Given the description of an element on the screen output the (x, y) to click on. 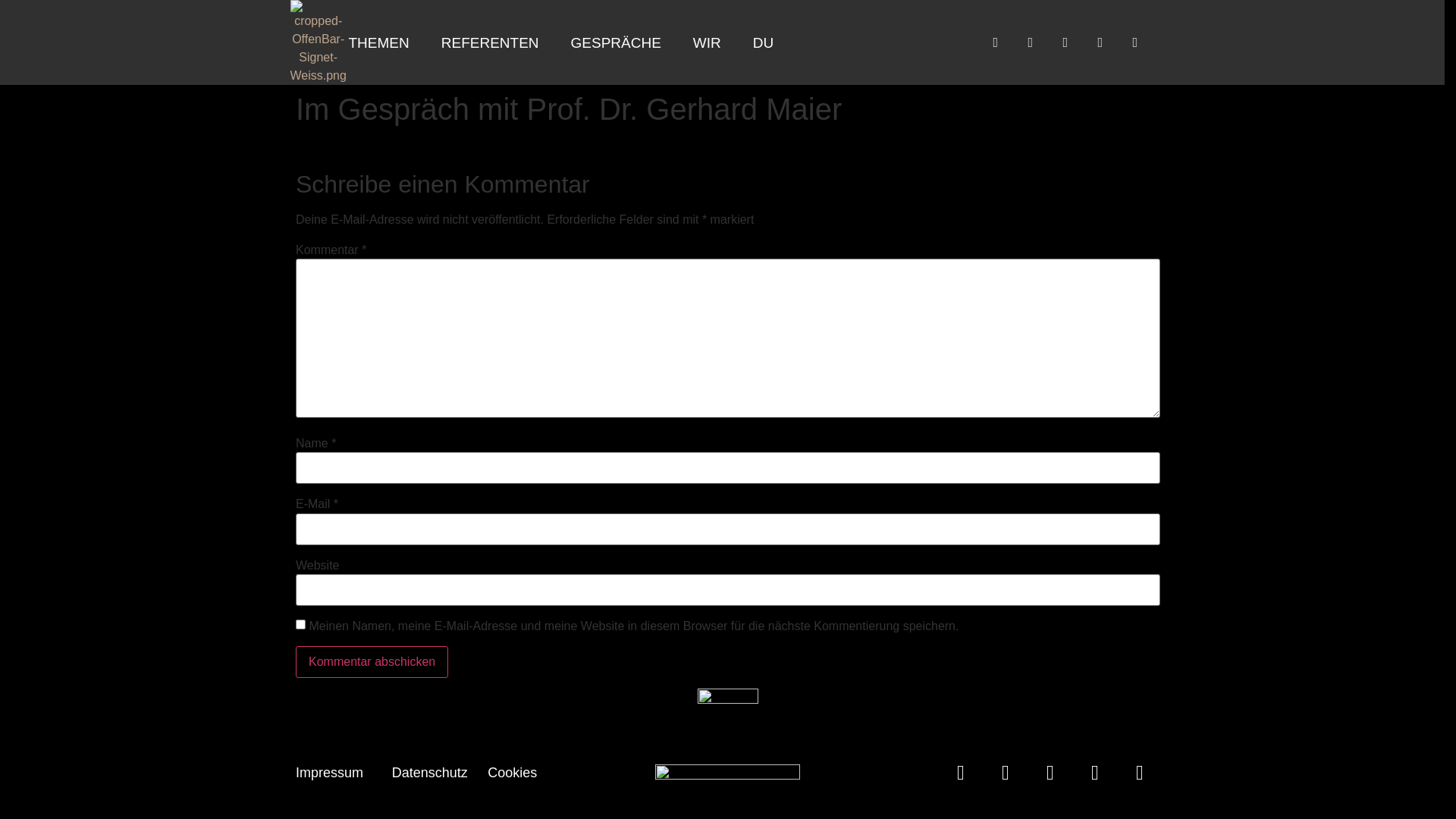
cropped-OffenBar-Signet-Weiss.png Element type: hover (317, 42)
DU Element type: text (762, 42)
Cookies Element type: text (511, 772)
WIR Element type: text (706, 42)
Datenschutz Element type: text (429, 772)
REFERENTEN Element type: text (490, 42)
Impressum Element type: text (329, 772)
Kommentar abschicken Element type: text (371, 661)
THEMEN Element type: text (378, 42)
